Given the description of an element on the screen output the (x, y) to click on. 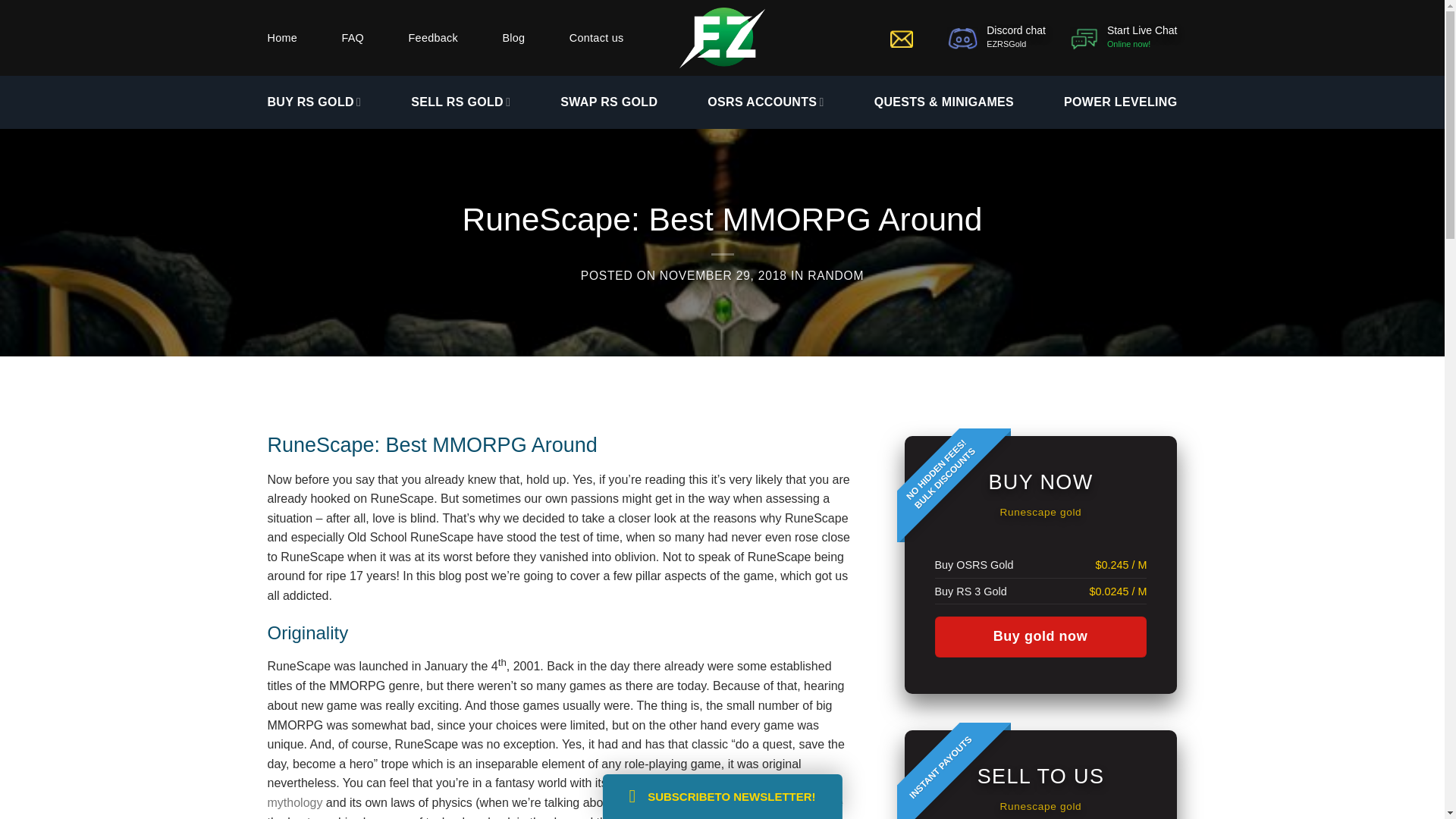
Home (281, 37)
RANDOM (835, 275)
mythology (293, 802)
NOVEMBER 29, 2018 (723, 275)
SELL RS GOLD (721, 796)
own (460, 102)
OSRS ACCOUNTS (1123, 37)
Contact us (620, 782)
